Given the description of an element on the screen output the (x, y) to click on. 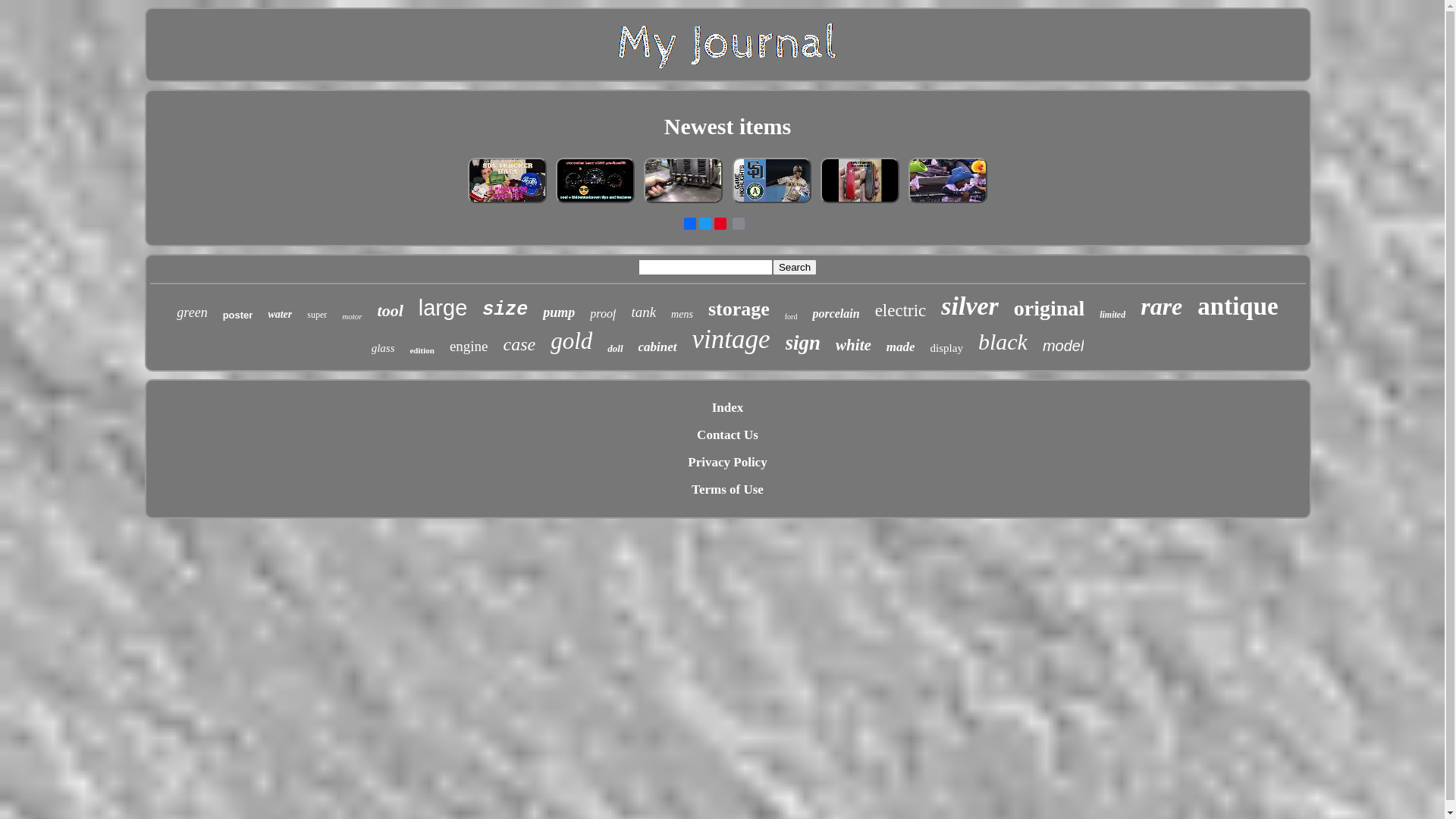
Twitter Element type: text (704, 223)
made Element type: text (900, 346)
super Element type: text (316, 314)
Facebook Element type: text (689, 223)
Terms of Use Element type: text (727, 489)
gold Element type: text (571, 340)
edition Element type: text (421, 349)
white Element type: text (853, 344)
tank Element type: text (642, 312)
antique Element type: text (1237, 306)
Contact Us Element type: text (727, 434)
water Element type: text (279, 314)
limited Element type: text (1112, 314)
rare Element type: text (1161, 306)
pump Element type: text (558, 312)
cabinet Element type: text (657, 346)
Index Element type: text (727, 407)
display Element type: text (946, 348)
Beaver Bladeworks Custom Swiss Army Knife Titanium Bantum Element type: hover (859, 201)
Newest items Element type: text (727, 125)
poster Element type: text (237, 314)
silver Element type: text (969, 305)
motor Element type: text (351, 315)
sign Element type: text (803, 342)
tool Element type: text (390, 310)
large Element type: text (442, 307)
size Element type: text (504, 309)
case Element type: text (519, 344)
model Element type: text (1062, 345)
Search Element type: text (794, 267)
porcelain Element type: text (835, 313)
engine Element type: text (468, 346)
black Element type: text (1002, 341)
vintage Element type: text (731, 339)
glass Element type: text (383, 348)
original Element type: text (1048, 308)
storage Element type: text (738, 309)
Privacy Policy Element type: text (726, 462)
green Element type: text (191, 312)
mens Element type: text (682, 314)
doll Element type: text (614, 348)
ford Element type: text (790, 316)
proof Element type: text (602, 313)
electric Element type: text (900, 310)
